Given the description of an element on the screen output the (x, y) to click on. 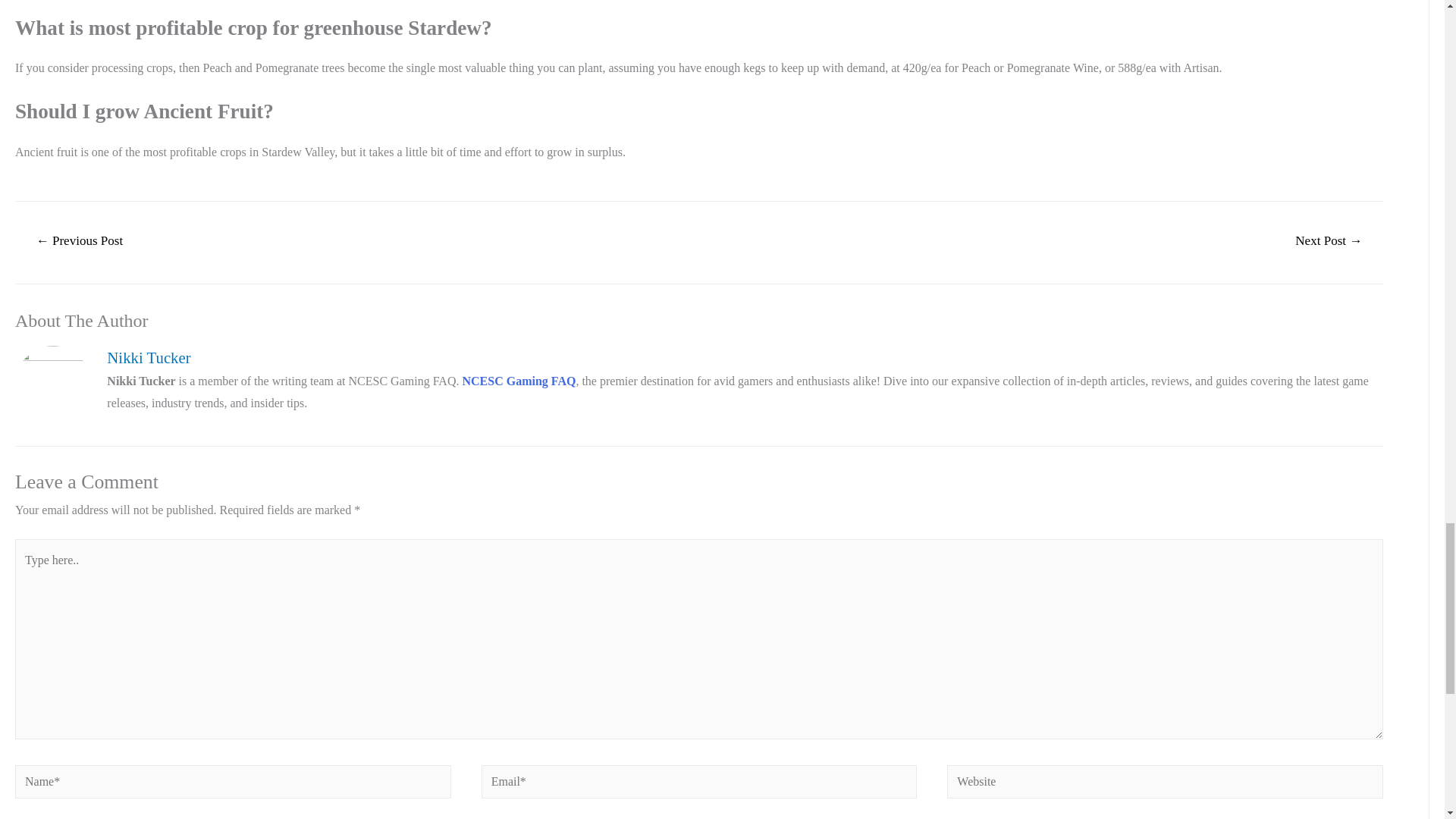
Nikki Tucker (744, 357)
NCESC Gaming FAQ (518, 380)
